Given the description of an element on the screen output the (x, y) to click on. 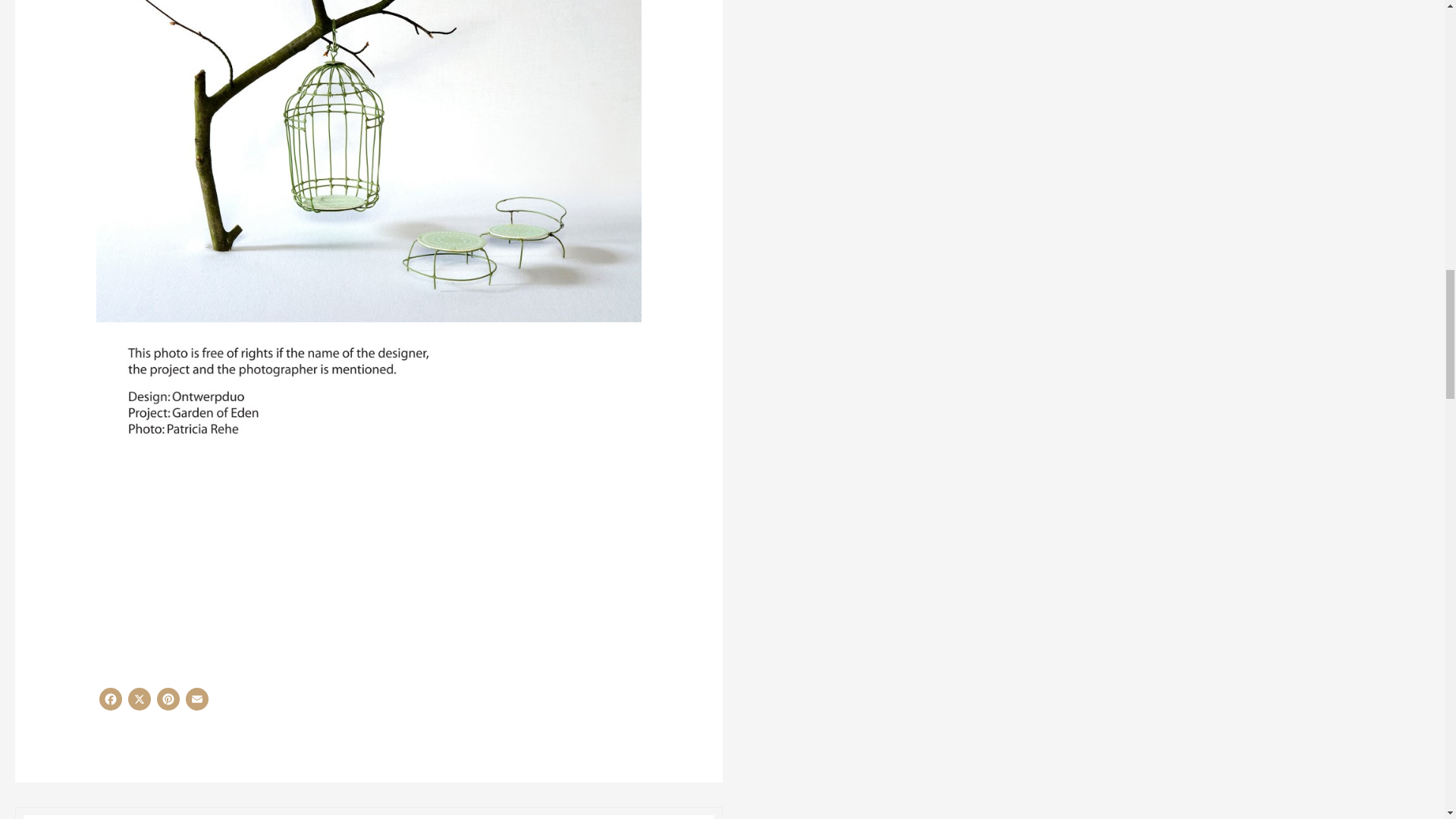
Email (197, 702)
X (139, 702)
Pinterest (168, 702)
Facebook (110, 702)
